Given the description of an element on the screen output the (x, y) to click on. 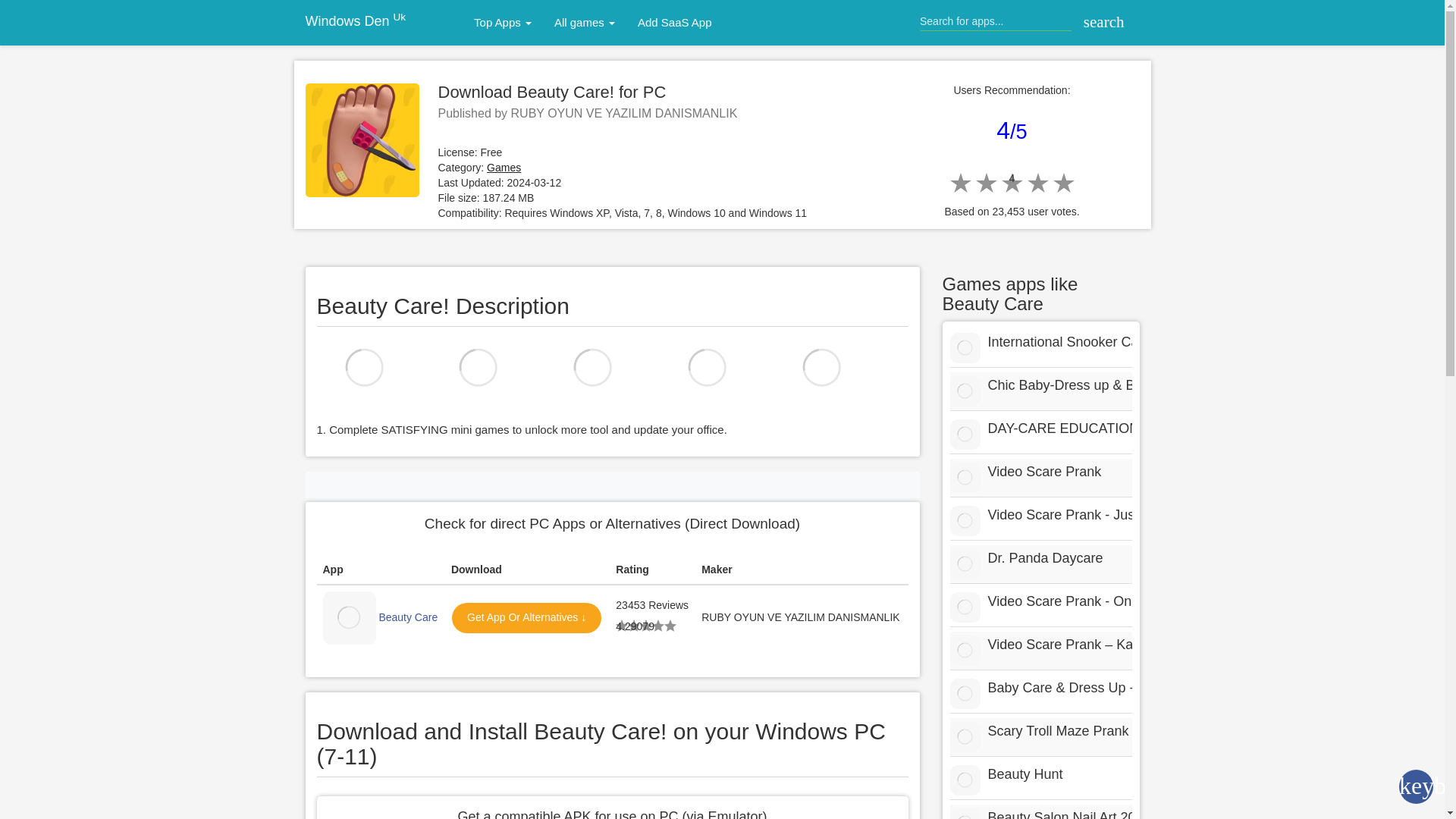
All games (584, 22)
Windows Den Uk (355, 20)
Top Apps (503, 22)
